Given the description of an element on the screen output the (x, y) to click on. 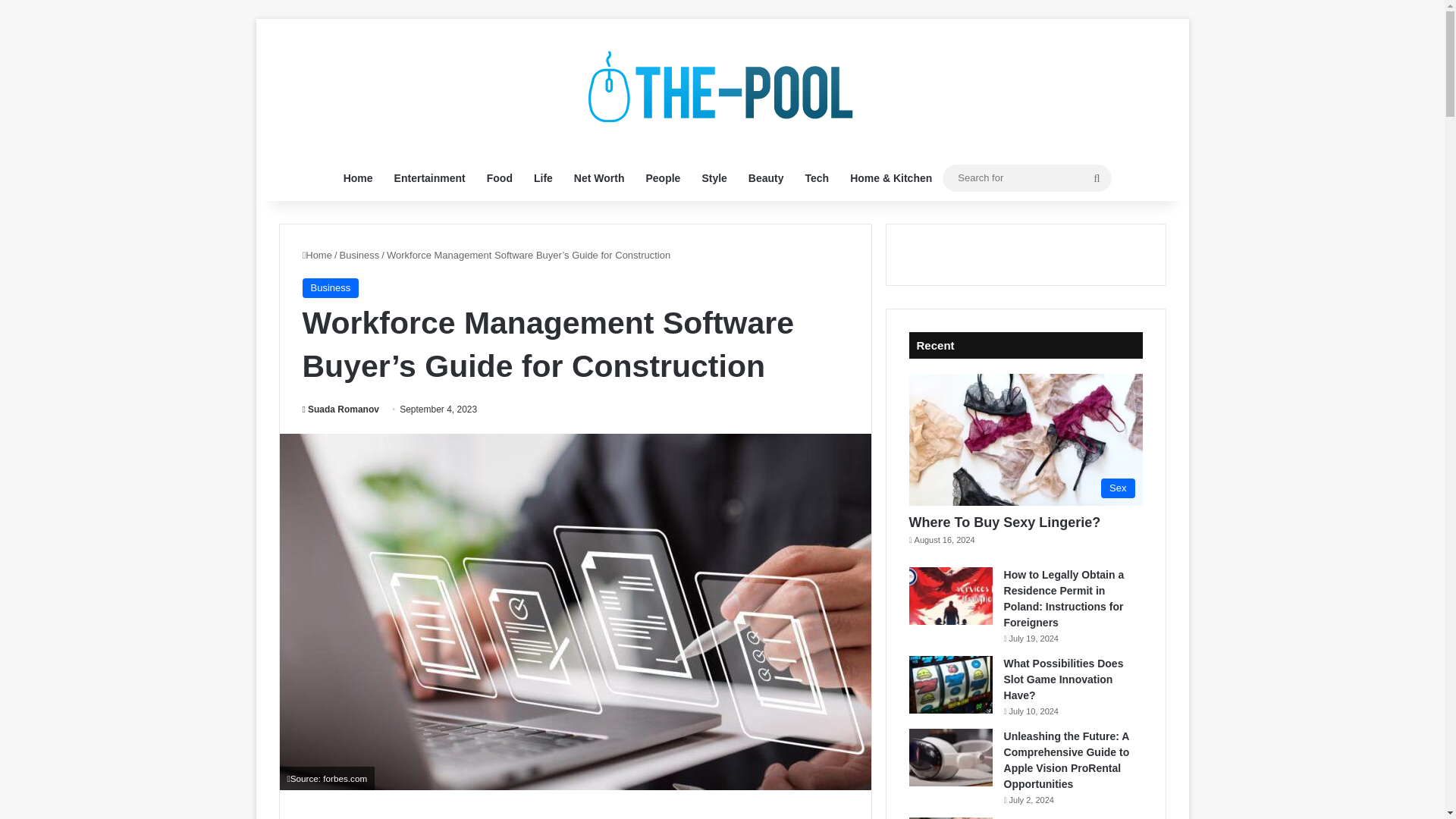
Search for (1096, 177)
The Pool (721, 87)
Food (499, 177)
Entertainment (430, 177)
Search for (1027, 177)
Suada Romanov (339, 409)
Home (316, 255)
Net Worth (598, 177)
Business (359, 255)
People (662, 177)
